Given the description of an element on the screen output the (x, y) to click on. 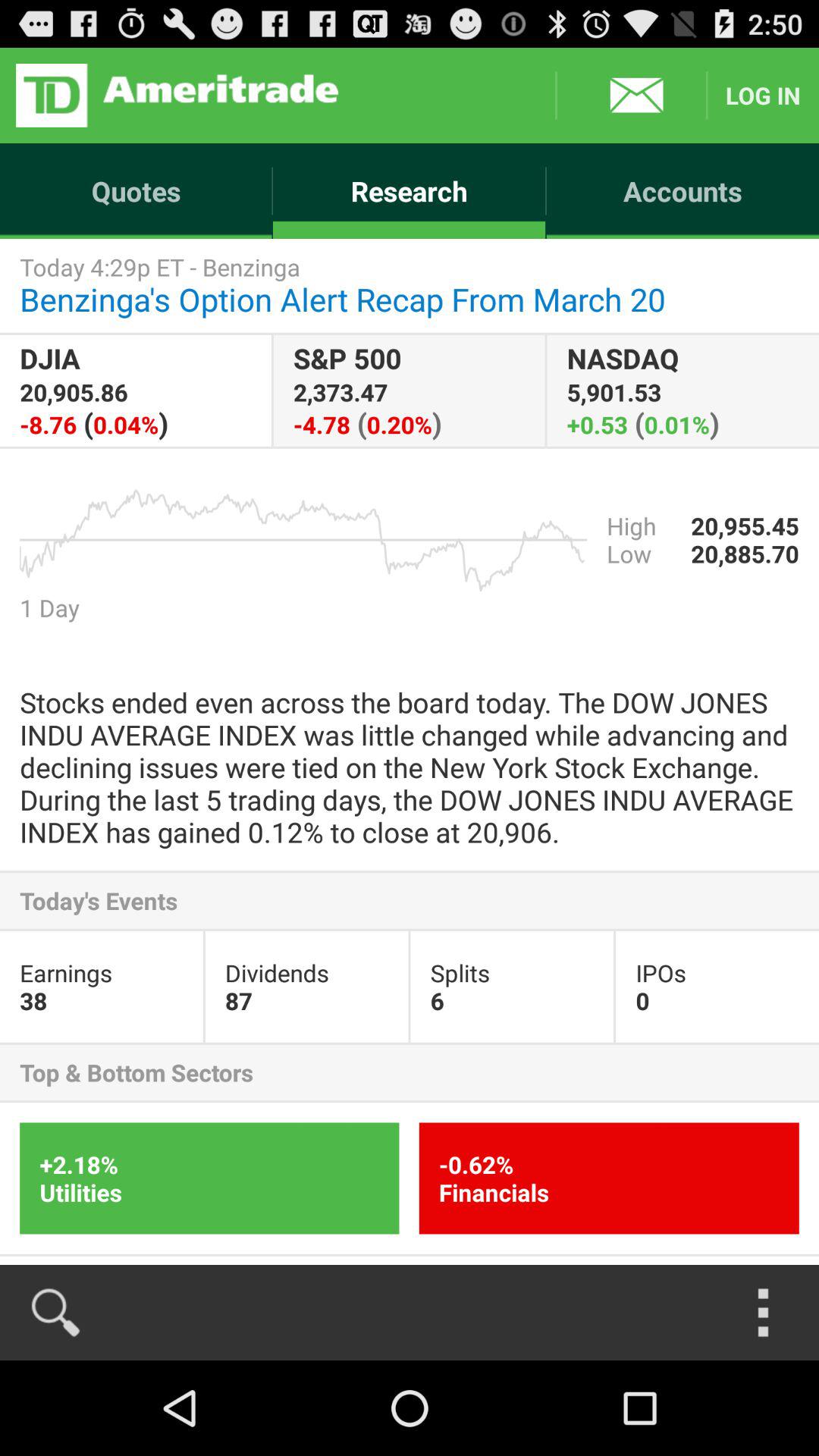
check your mail or notifications (631, 95)
